Given the description of an element on the screen output the (x, y) to click on. 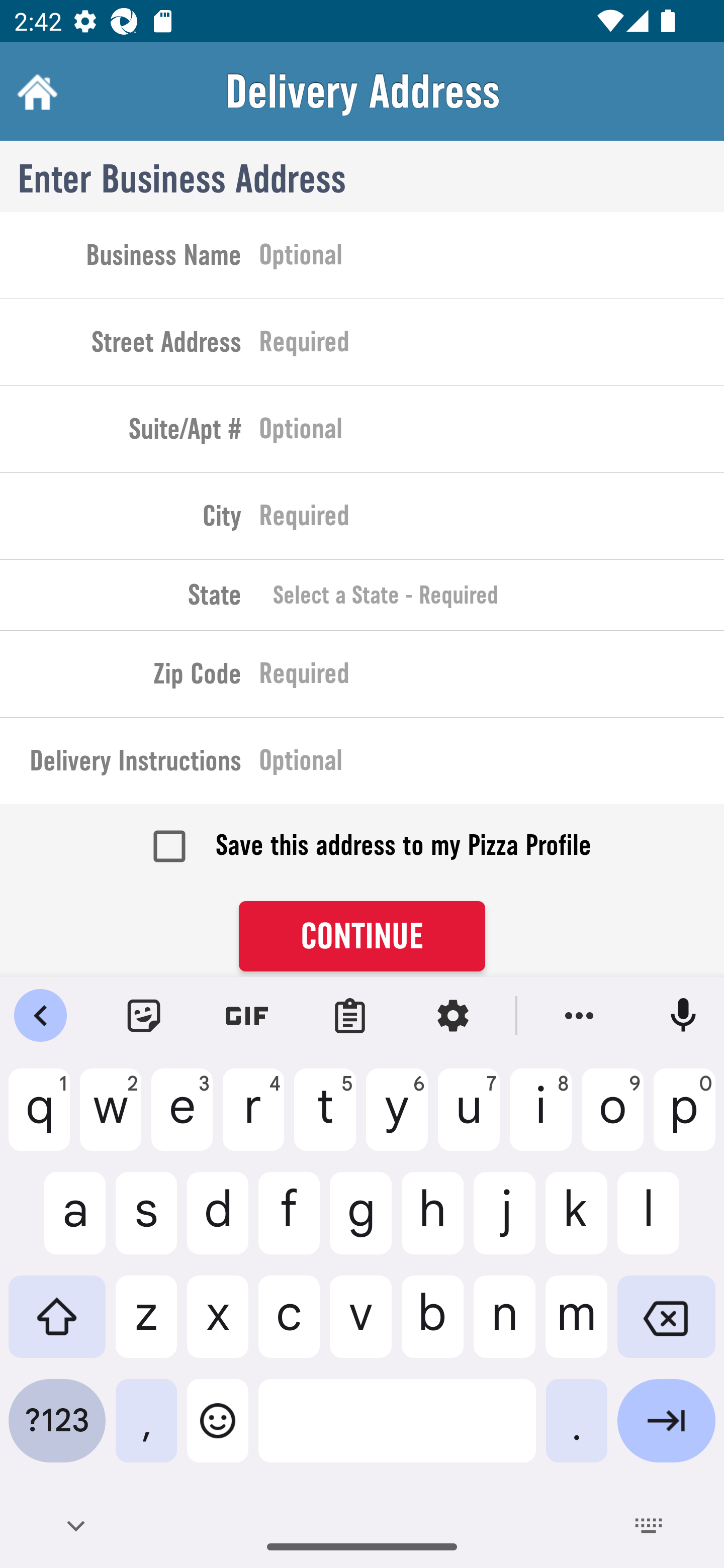
Home (35, 91)
Optional (491, 258)
Required (491, 345)
Optional (491, 432)
Required (491, 519)
Select a State - Required (491, 594)
Required (491, 677)
Optional (491, 764)
CONTINUE (361, 936)
